Given the description of an element on the screen output the (x, y) to click on. 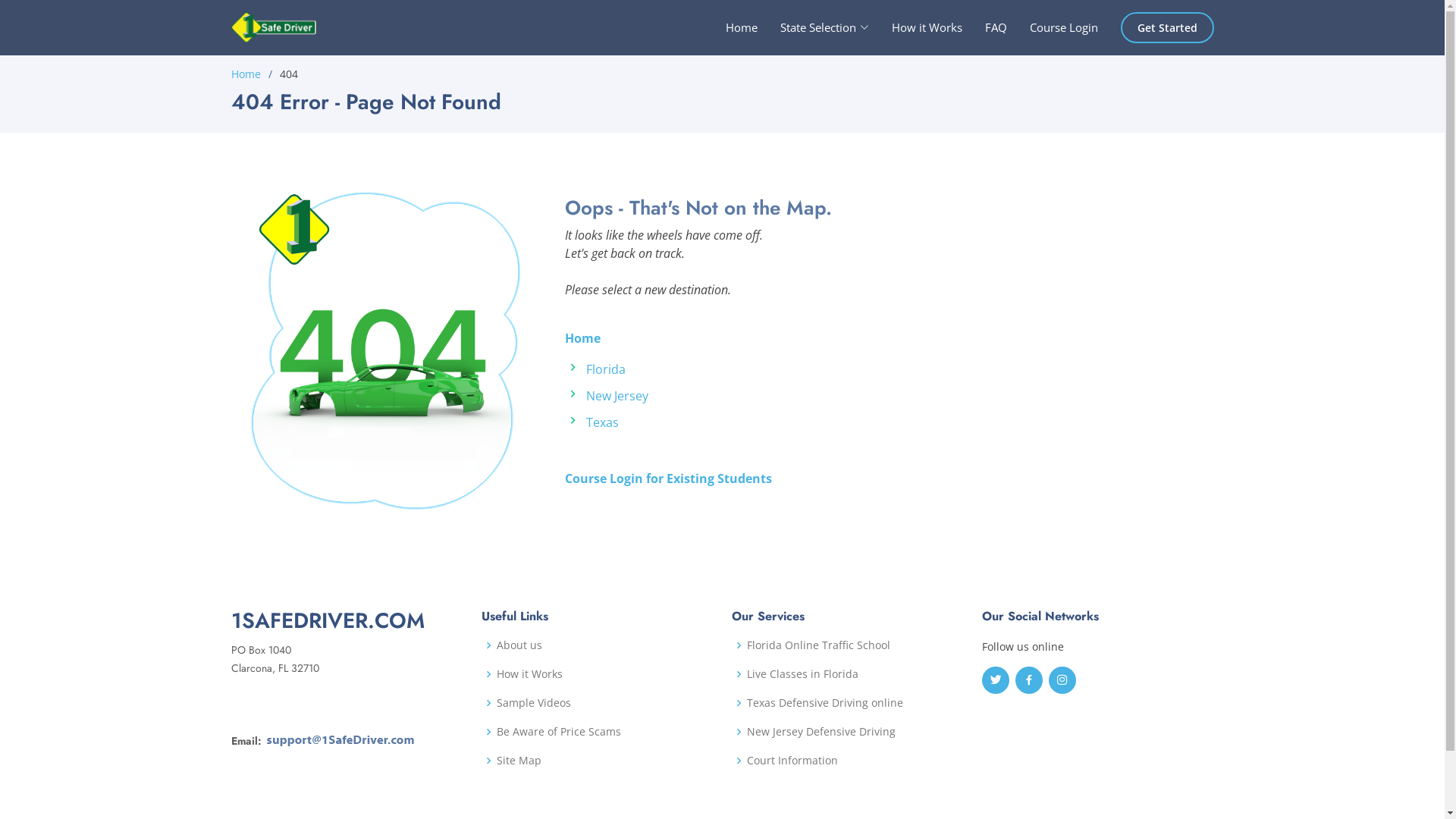
How it Works Element type: text (915, 27)
New Jersey Element type: text (616, 395)
Sample Videos Element type: text (532, 702)
Home Element type: text (581, 337)
Florida Online Traffic School Element type: text (817, 645)
Florida Element type: text (604, 368)
Home Element type: text (245, 73)
State Selection Element type: text (812, 27)
New Jersey Defensive Driving Element type: text (820, 731)
How it Works Element type: text (528, 673)
Get Started Element type: text (1167, 27)
Texas Defensive Driving online Element type: text (824, 702)
Texas Element type: text (601, 422)
Be Aware of Price Scams Element type: text (557, 731)
Court Information Element type: text (791, 760)
Course Login Element type: text (1052, 27)
Home Element type: text (729, 27)
Live Classes in Florida Element type: text (801, 673)
FAQ Element type: text (983, 27)
About us Element type: text (518, 645)
Course Login for Existing Students Element type: text (667, 478)
Site Map Element type: text (517, 760)
